Given the description of an element on the screen output the (x, y) to click on. 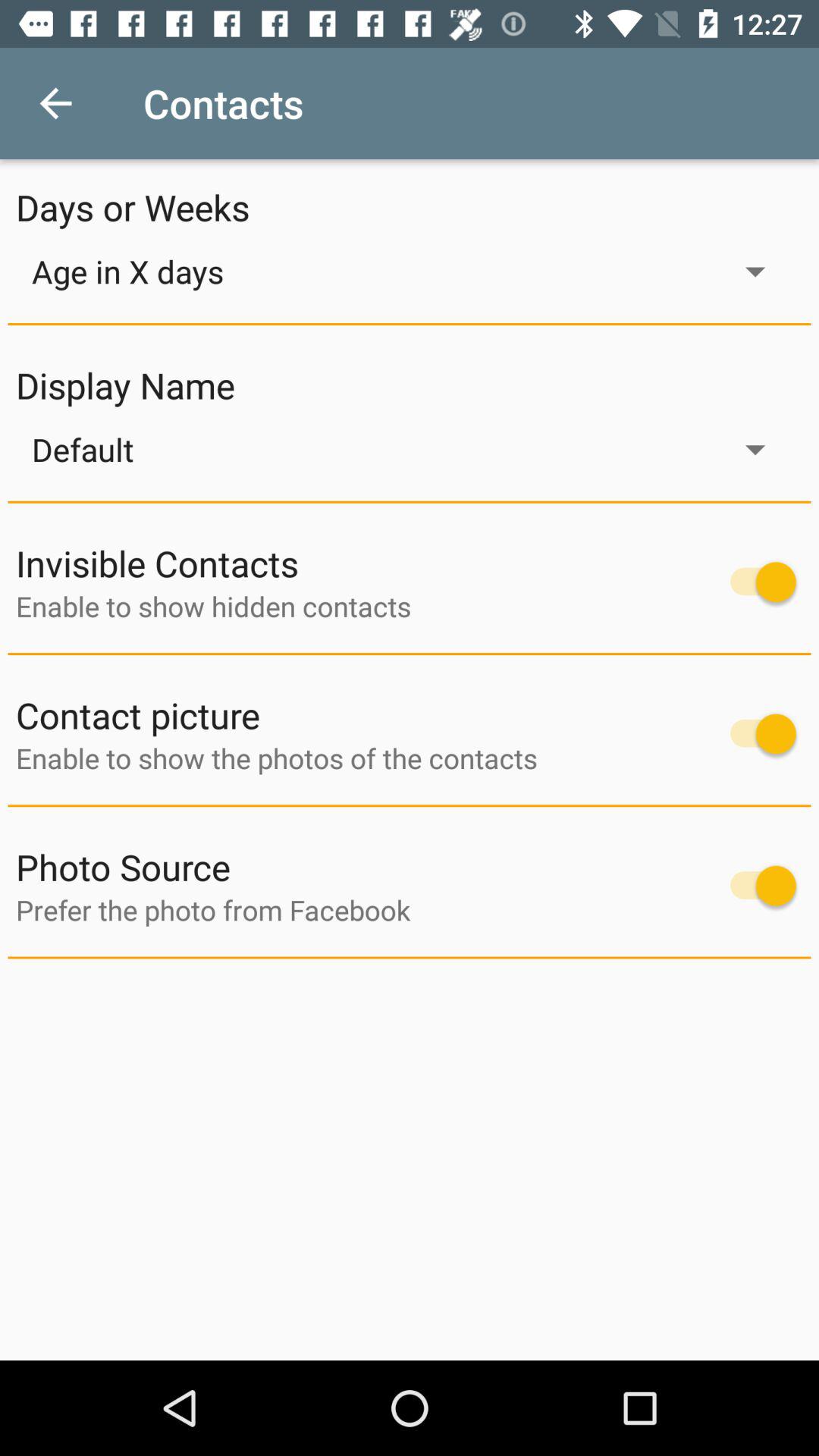
invisible contacts switch option (755, 582)
